Given the description of an element on the screen output the (x, y) to click on. 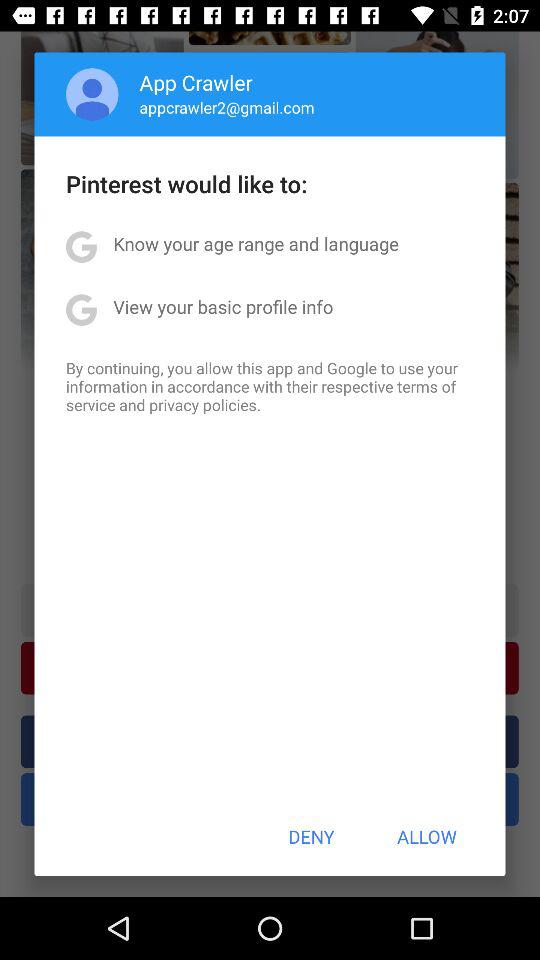
open appcrawler2@gmail.com icon (226, 107)
